Given the description of an element on the screen output the (x, y) to click on. 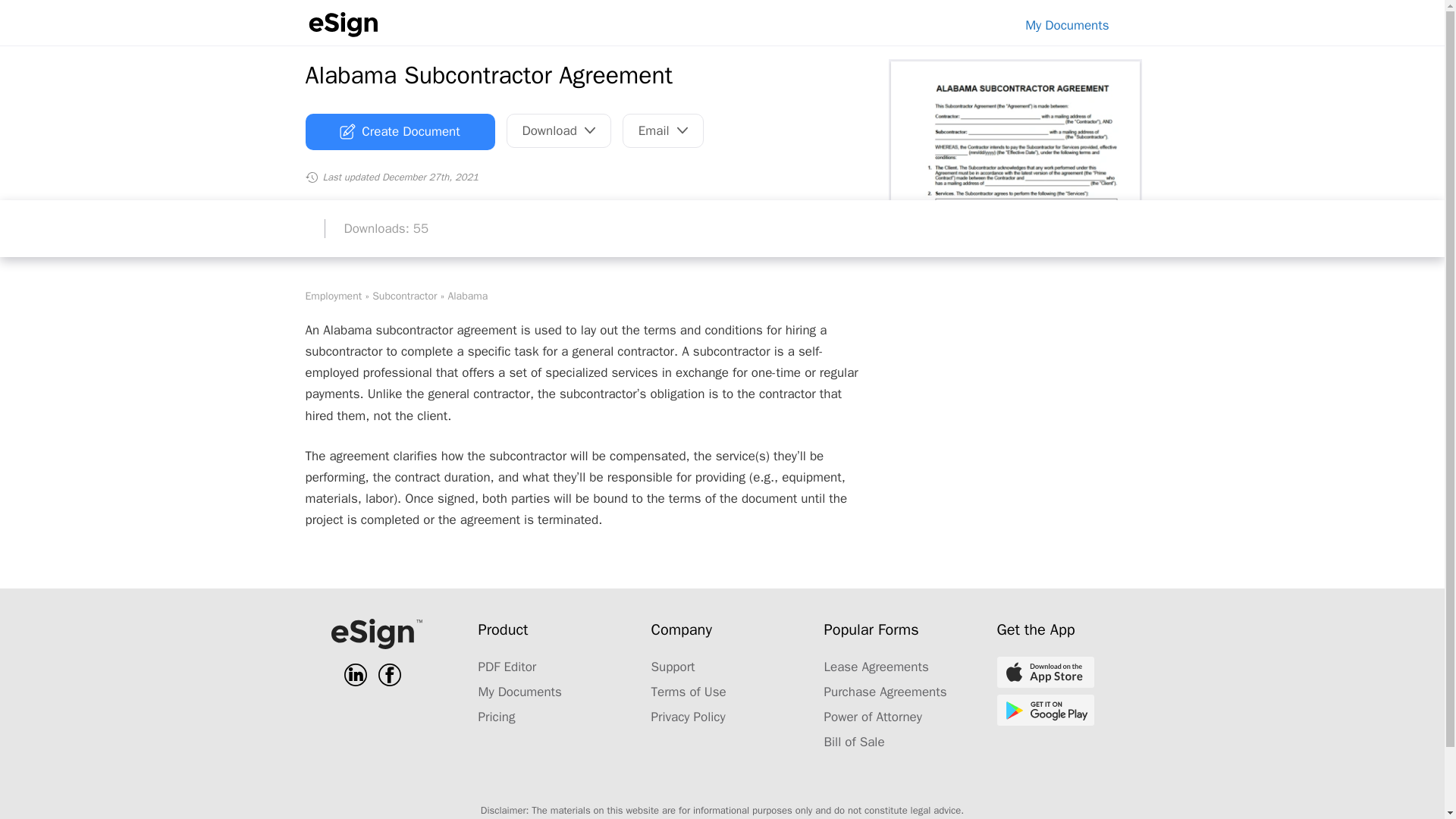
My Documents (518, 691)
Apple Store icon (1044, 671)
Email (663, 130)
Subcontractor (404, 295)
My Documents (1066, 24)
Employment (332, 295)
Download (558, 130)
Create Document (399, 131)
Pricing (496, 716)
PDF Editor (506, 666)
